Given the description of an element on the screen output the (x, y) to click on. 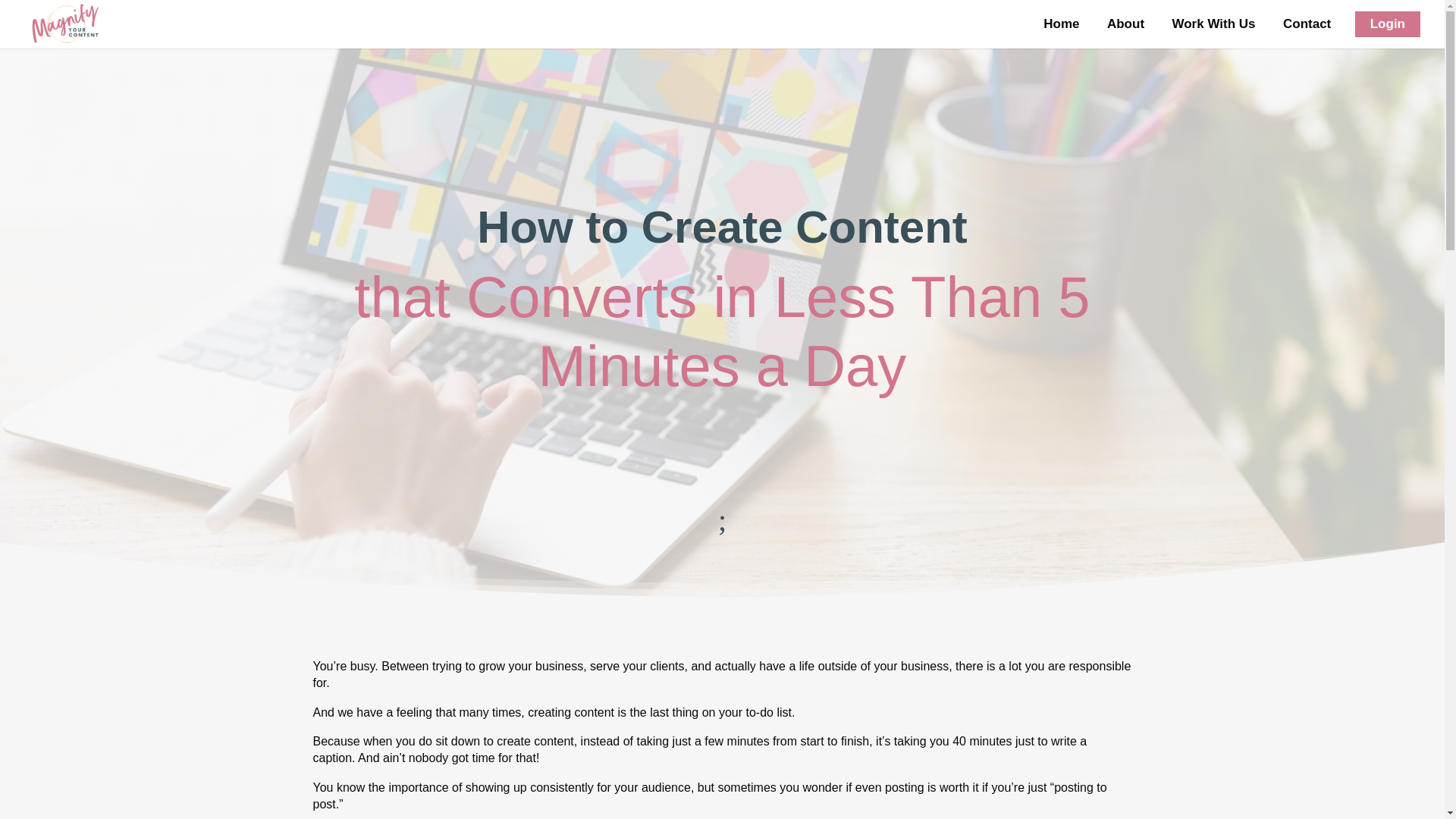
Home (1061, 23)
About (1125, 23)
Login (1388, 23)
Work With Us (1213, 23)
Contact (1307, 23)
